Given the description of an element on the screen output the (x, y) to click on. 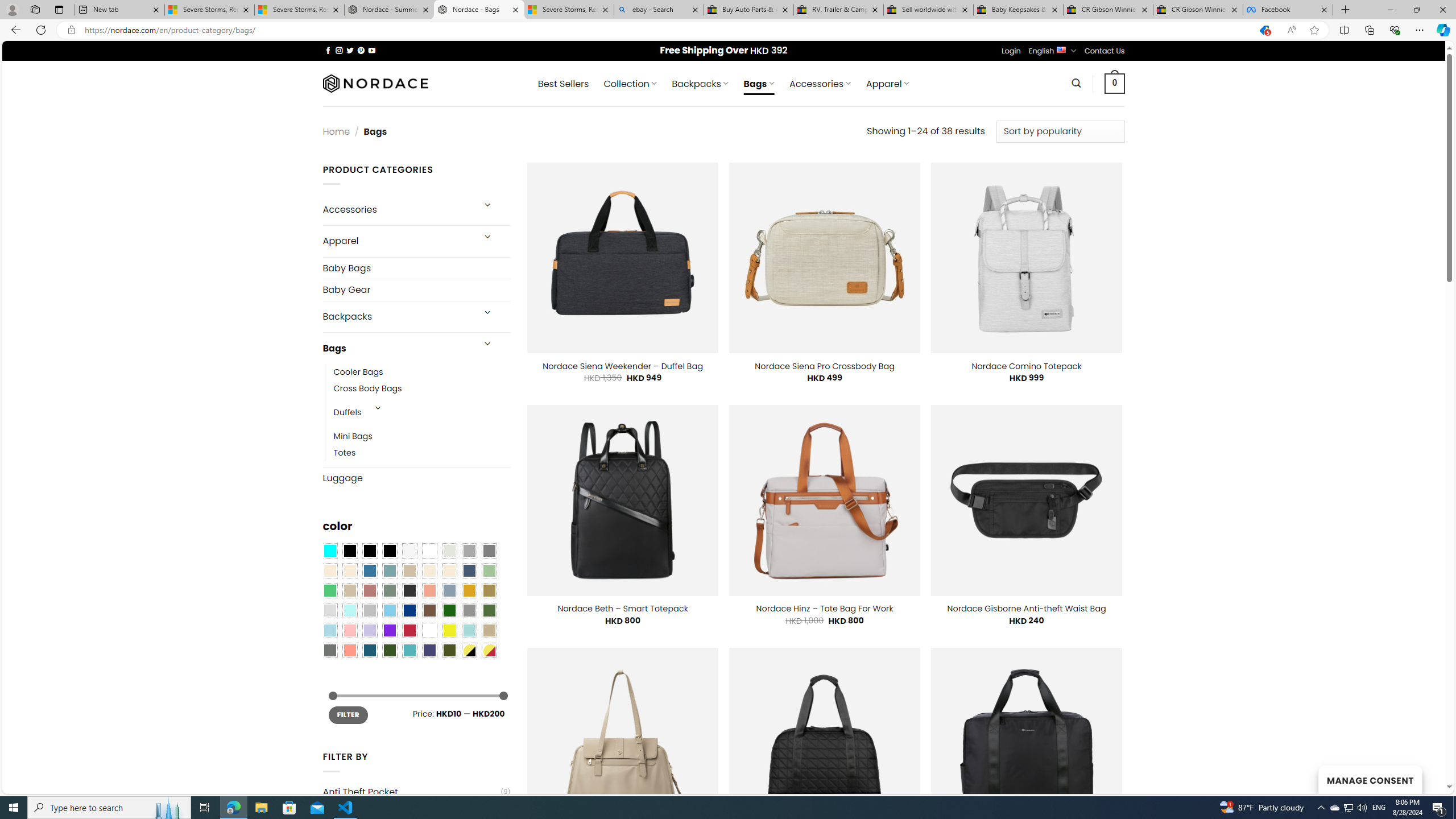
Ash Gray (449, 550)
Rose (369, 590)
Emerald Green (329, 590)
Yellow-Red (488, 649)
Totes (344, 452)
